Given the description of an element on the screen output the (x, y) to click on. 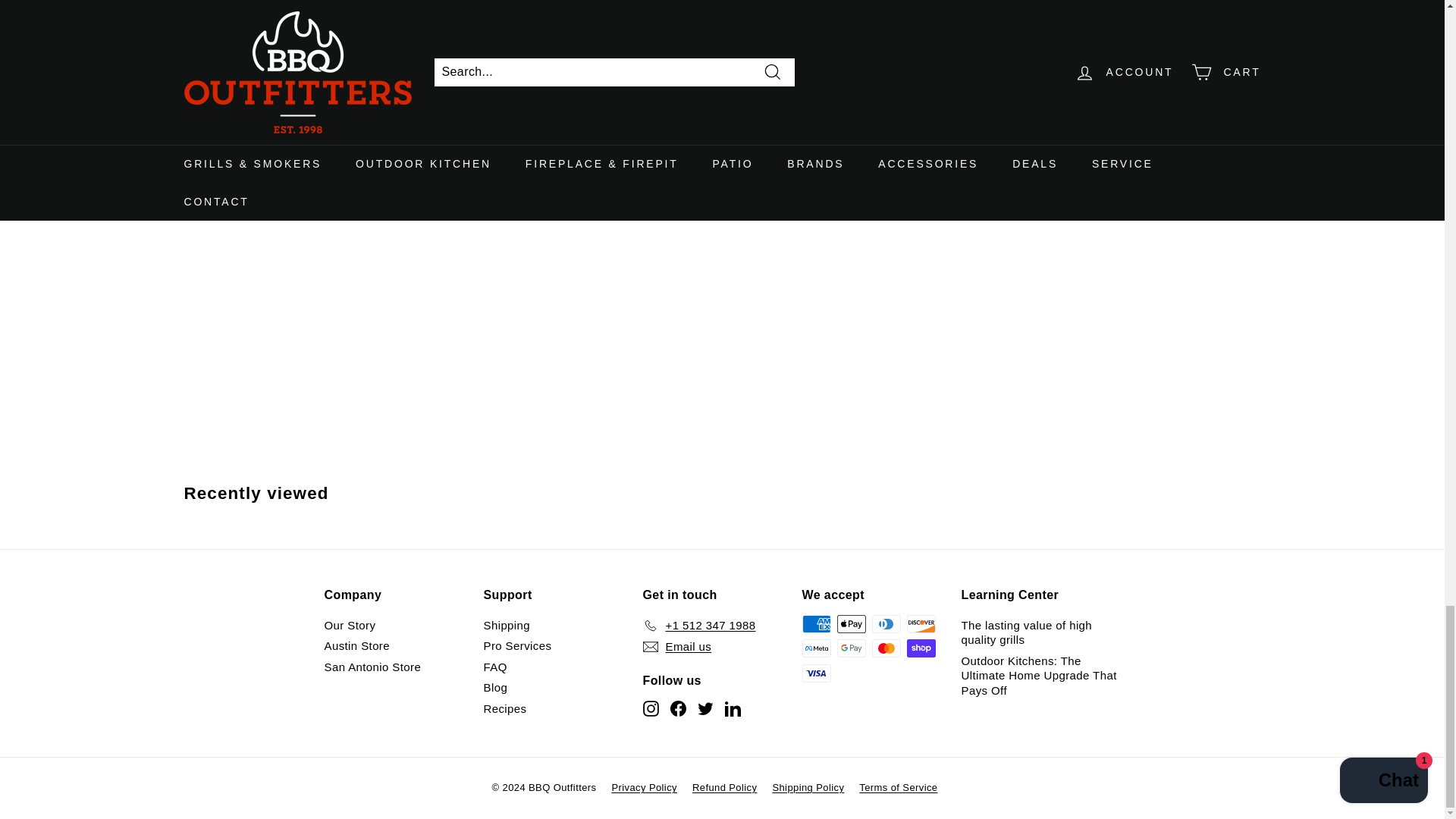
BBQ Outfitters on Instagram (651, 708)
Green Mountain Grills (376, 149)
BBQ Outfitters on Facebook (677, 708)
BBQ Outfitters on Twitter (705, 708)
